Given the description of an element on the screen output the (x, y) to click on. 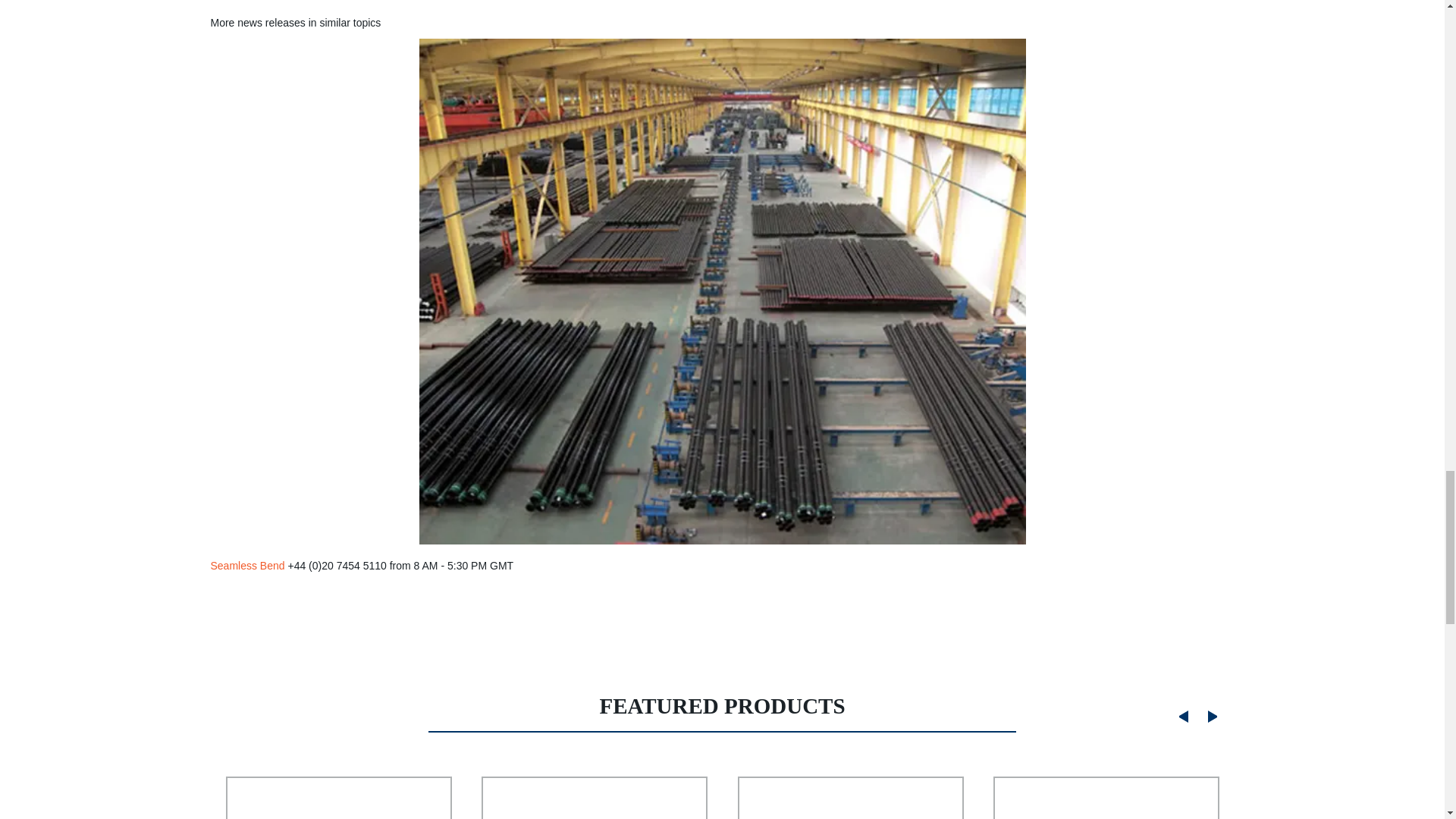
Shower panel shower rain and mist shower (1106, 790)
16mm Mini Plastic Male Thread Valve Drip Irrigation Kit (850, 790)
Seamless Bend (248, 565)
